Given the description of an element on the screen output the (x, y) to click on. 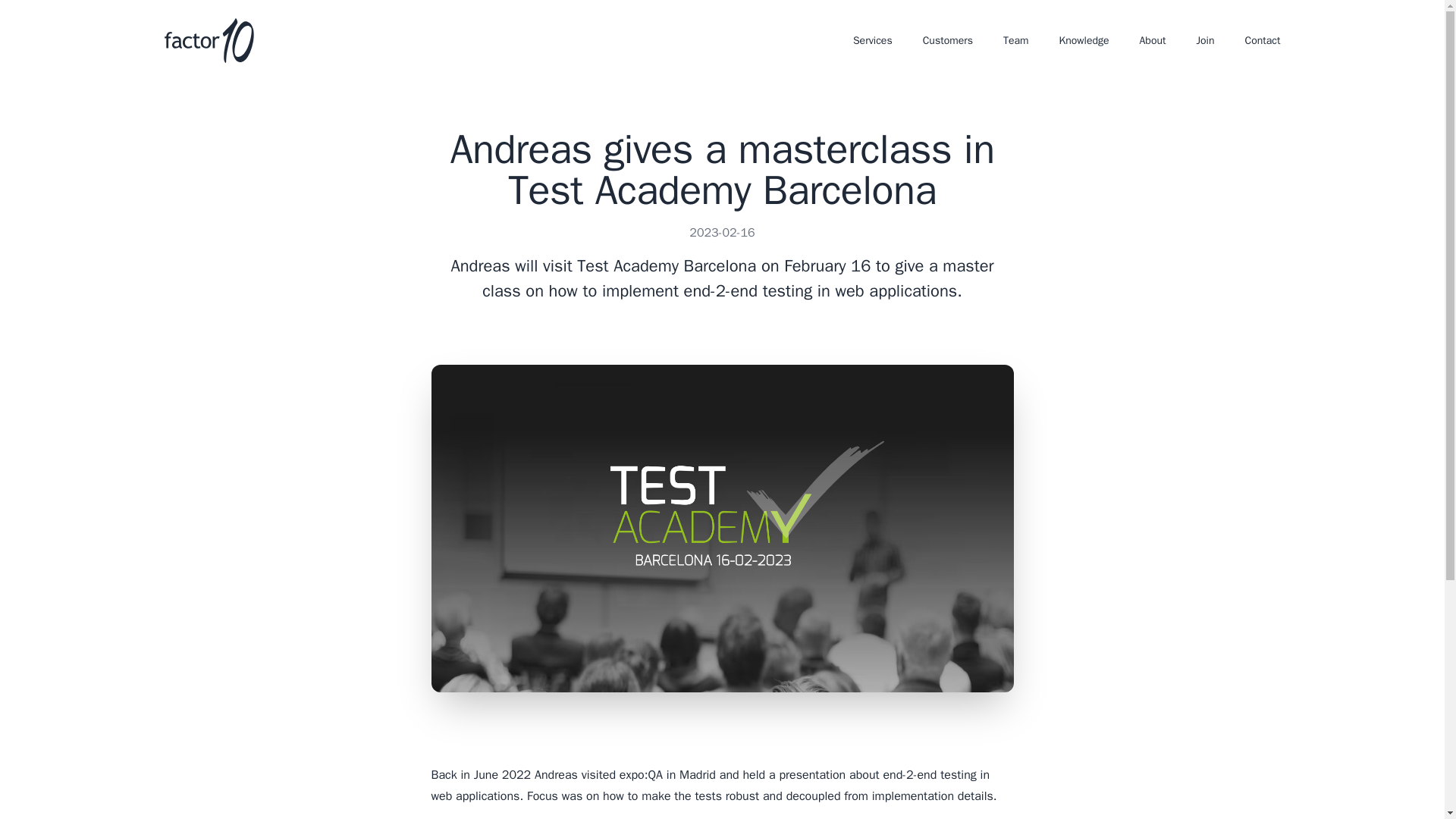
Services (872, 40)
Contact (1262, 40)
Knowledge (1083, 40)
Join (1204, 40)
About (1151, 40)
Team (1016, 40)
Customers (948, 40)
